Given the description of an element on the screen output the (x, y) to click on. 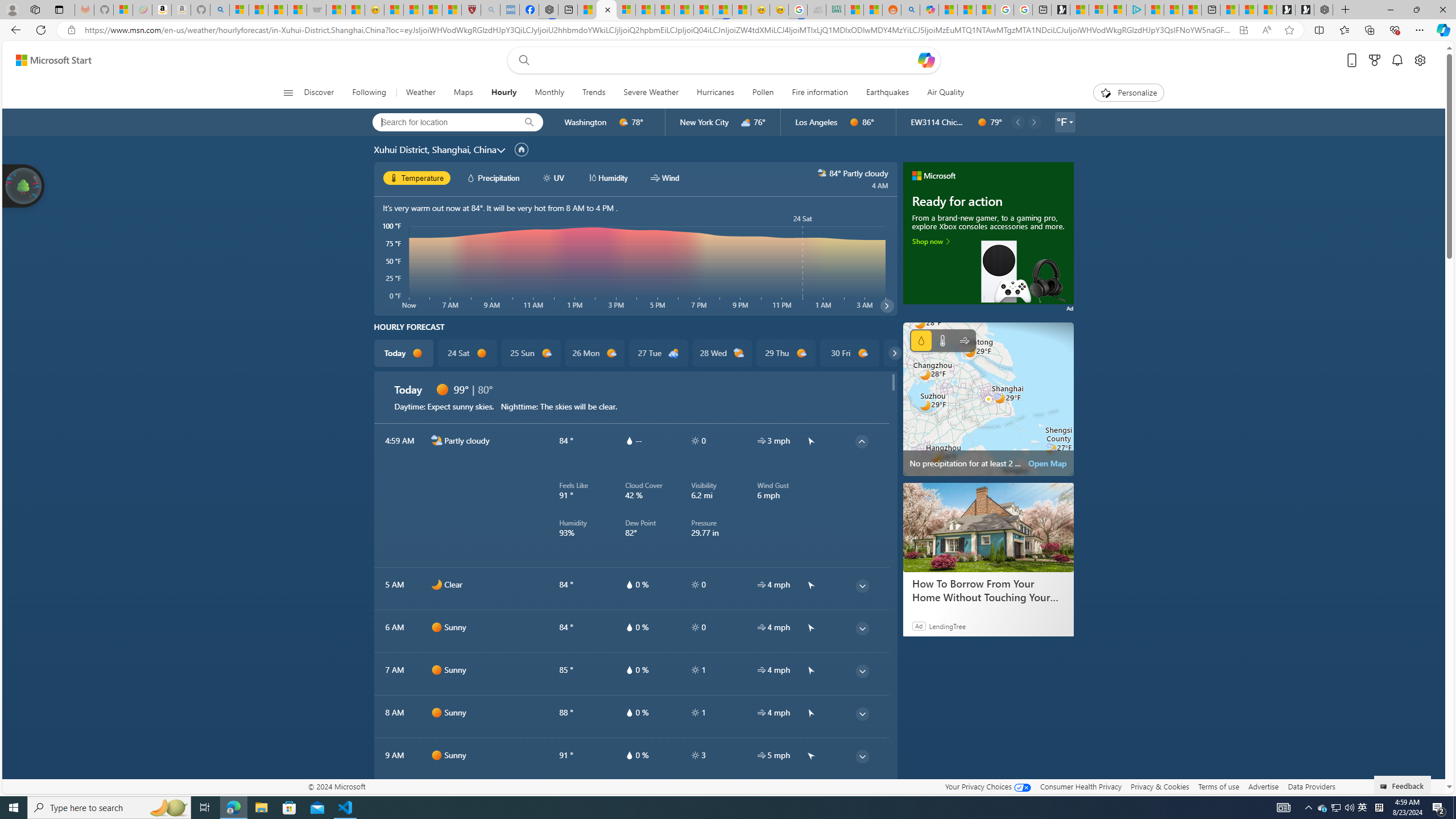
n0000 (436, 584)
LendingTree (946, 625)
Earthquakes (888, 92)
29 Thu d1000 (785, 352)
App available. Install Microsoft Start Weather (1243, 29)
Hurricanes (715, 92)
Earthquakes (887, 92)
